Given the description of an element on the screen output the (x, y) to click on. 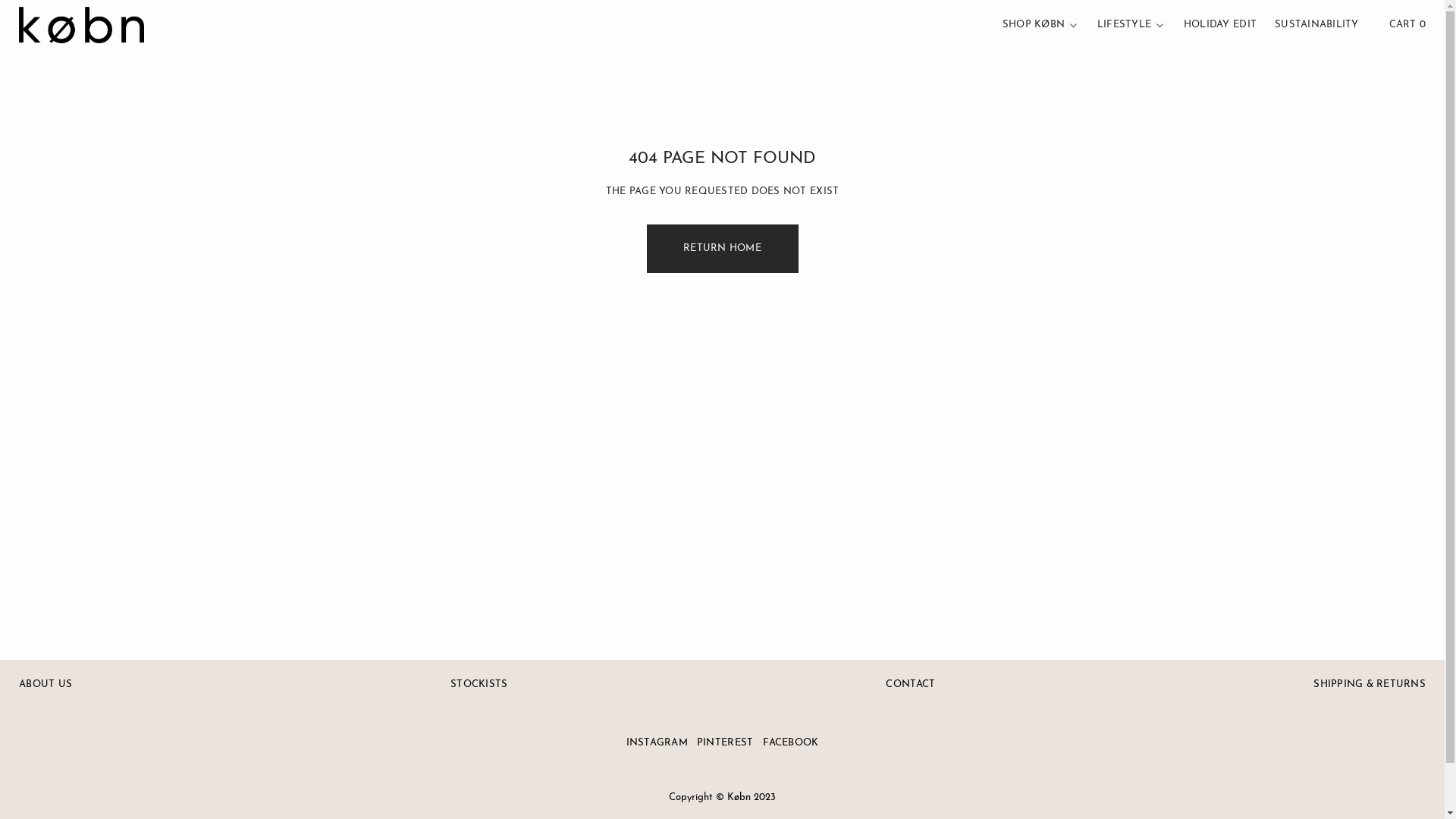
FACEBOOK Element type: text (790, 742)
STOCKISTS Element type: text (478, 684)
INSTAGRAM Element type: text (656, 742)
PINTEREST Element type: text (724, 742)
CONTACT Element type: text (910, 684)
CART
0 Element type: text (1407, 24)
RETURN HOME Element type: text (721, 248)
SHIPPING & RETURNS Element type: text (1369, 684)
ABOUT US Element type: text (45, 684)
HOLIDAY EDIT Element type: text (1219, 24)
SUSTAINABILITY Element type: text (1316, 24)
LIFESTYLE Element type: text (1124, 24)
